Given the description of an element on the screen output the (x, y) to click on. 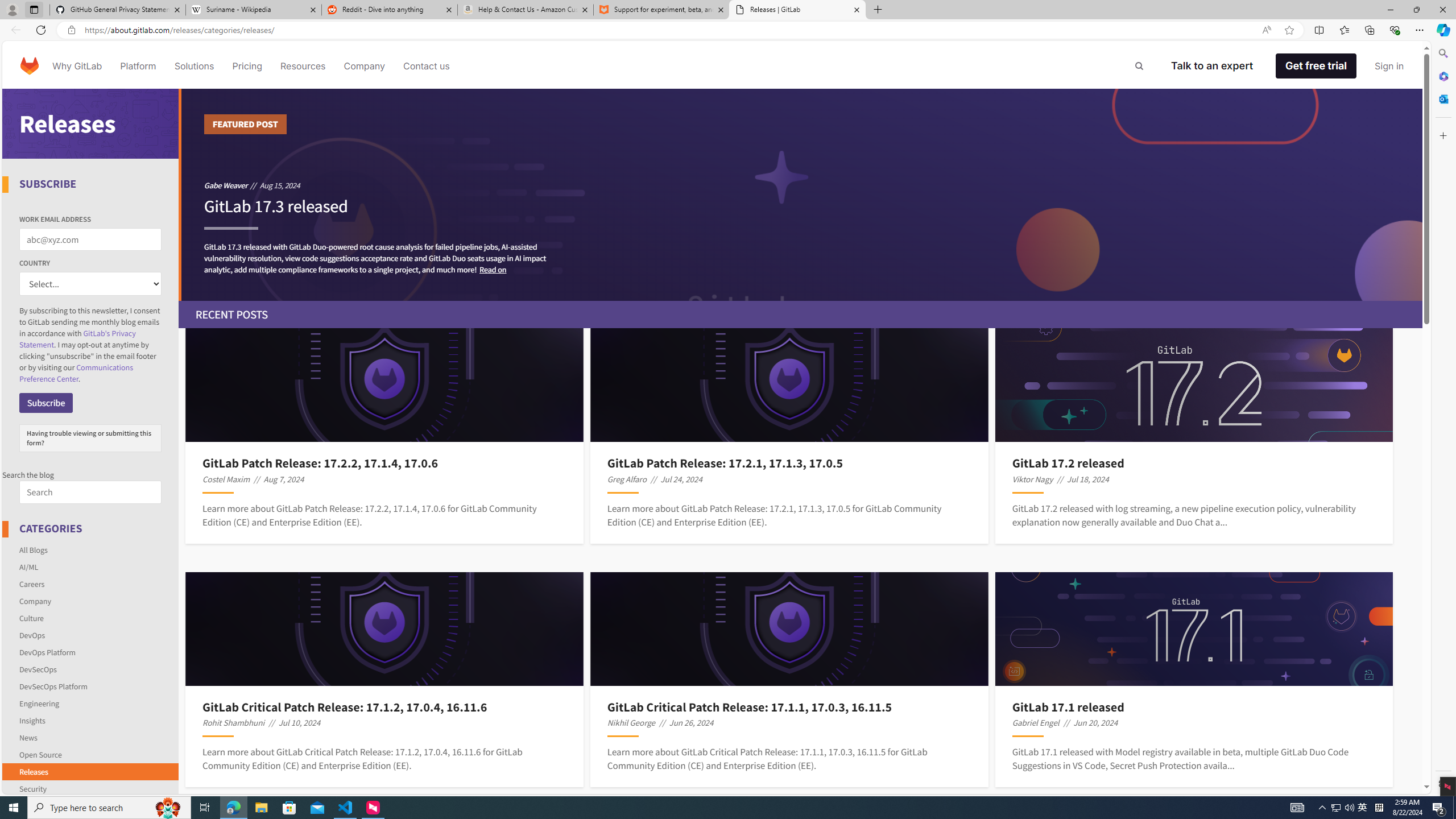
Culture (30, 617)
WORK EMAIL ADDRESS (89, 239)
DevOps (31, 635)
Company (364, 65)
AutomationID: navigation (712, 64)
Get free trial (1315, 65)
Sign in (1389, 65)
Security (90, 786)
